Given the description of an element on the screen output the (x, y) to click on. 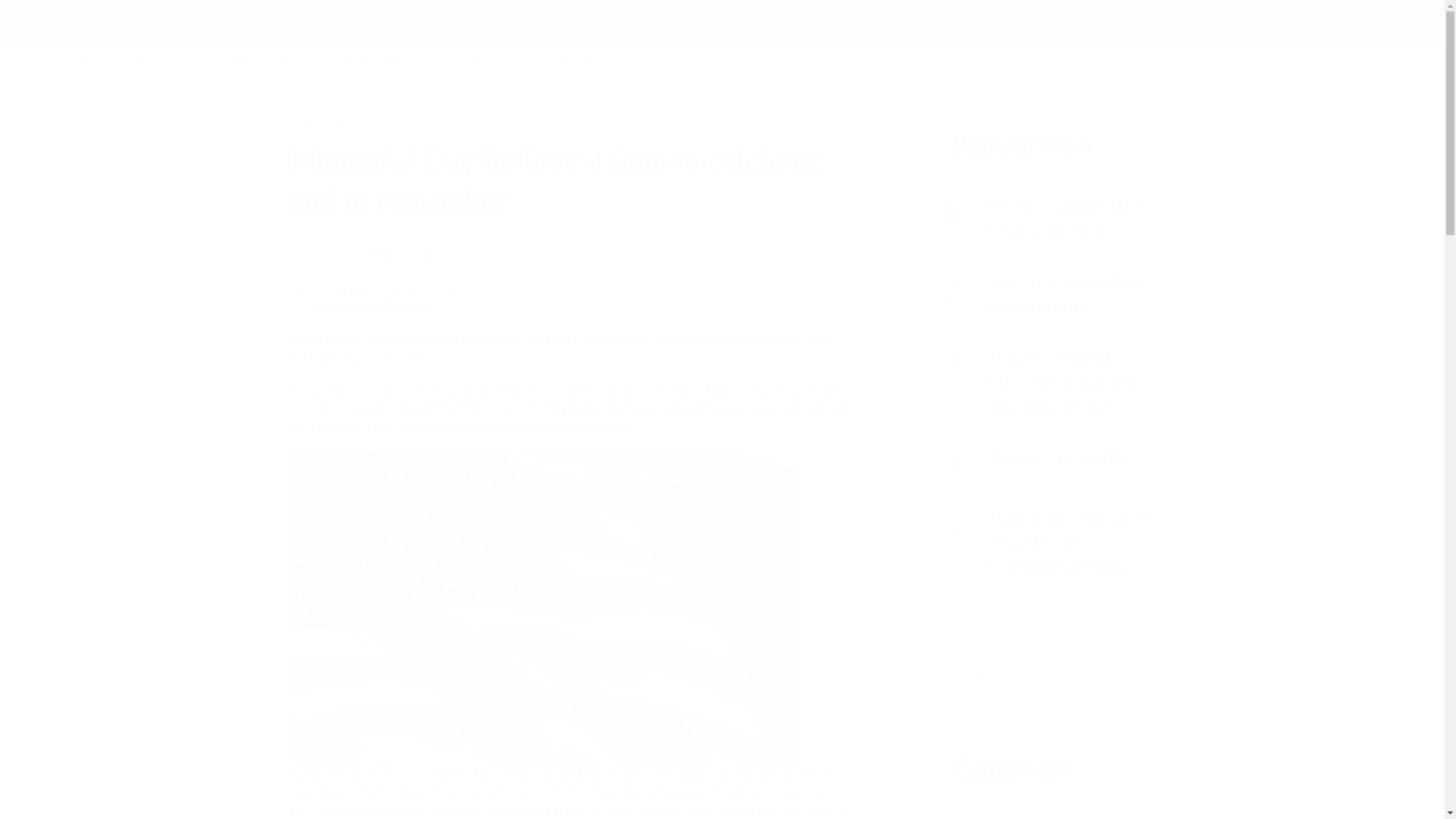
Learning Center (365, 57)
Our Company (373, 292)
Insurance (151, 57)
Blog (331, 122)
For Dealers (572, 57)
Customer Center (250, 57)
Home (301, 122)
Search (1034, 675)
Content Team (334, 255)
Auto Financing (55, 57)
